Given the description of an element on the screen output the (x, y) to click on. 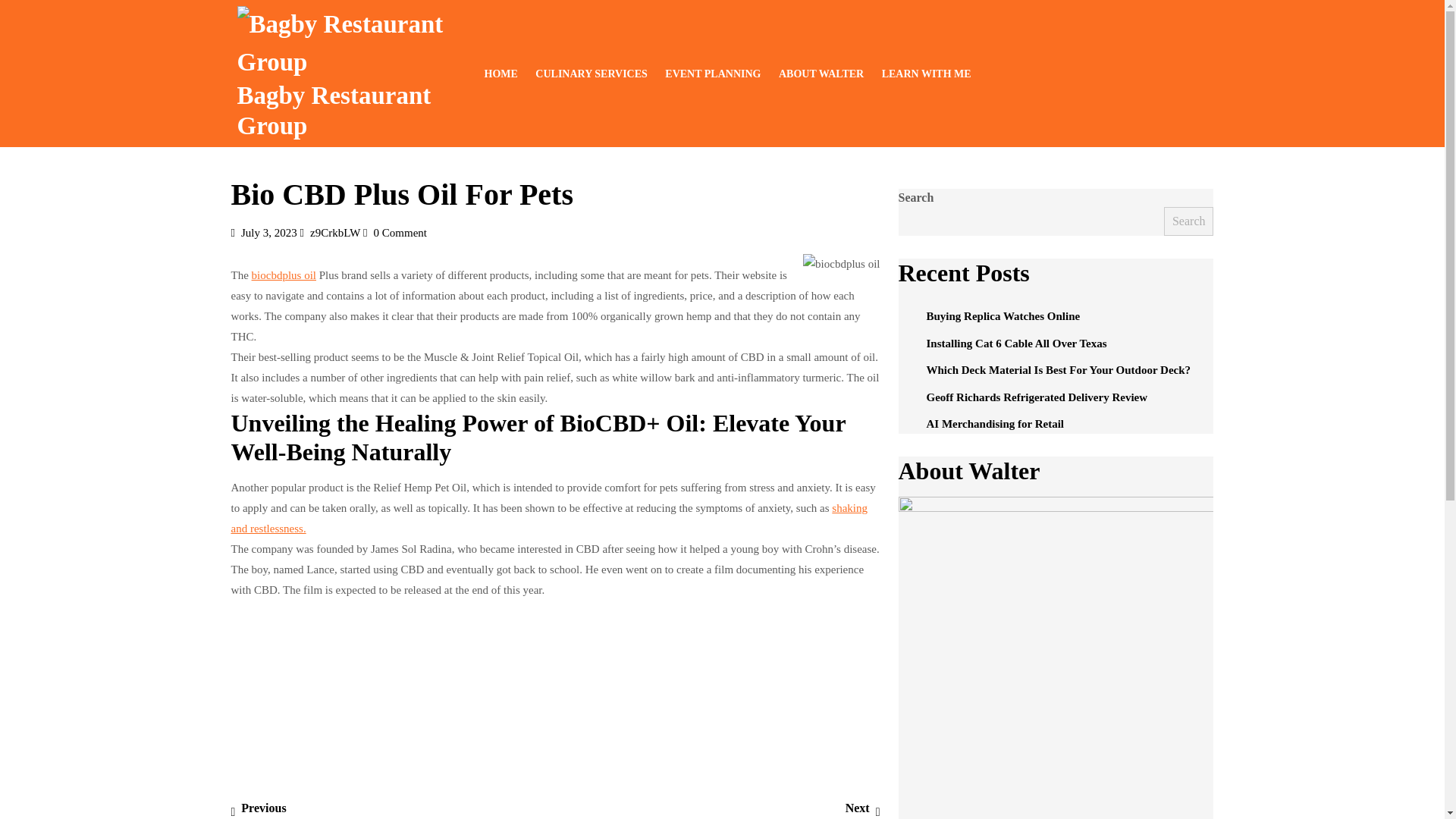
ABOUT WALTER (820, 73)
AI Merchandising for Retail (995, 423)
LEARN WITH ME (926, 73)
shaking and restlessness. (334, 232)
Bagby Restaurant Group (548, 518)
Geoff Richards Refrigerated Delivery Review (332, 110)
Installing Cat 6 Cable All Over Texas (1037, 397)
EVENT PLANNING (1016, 343)
Which Deck Material Is Best For Your Outdoor Deck? (713, 73)
CULINARY SERVICES (269, 232)
biocbdplus oil (1058, 369)
HOME (590, 73)
Search (283, 275)
